Given the description of an element on the screen output the (x, y) to click on. 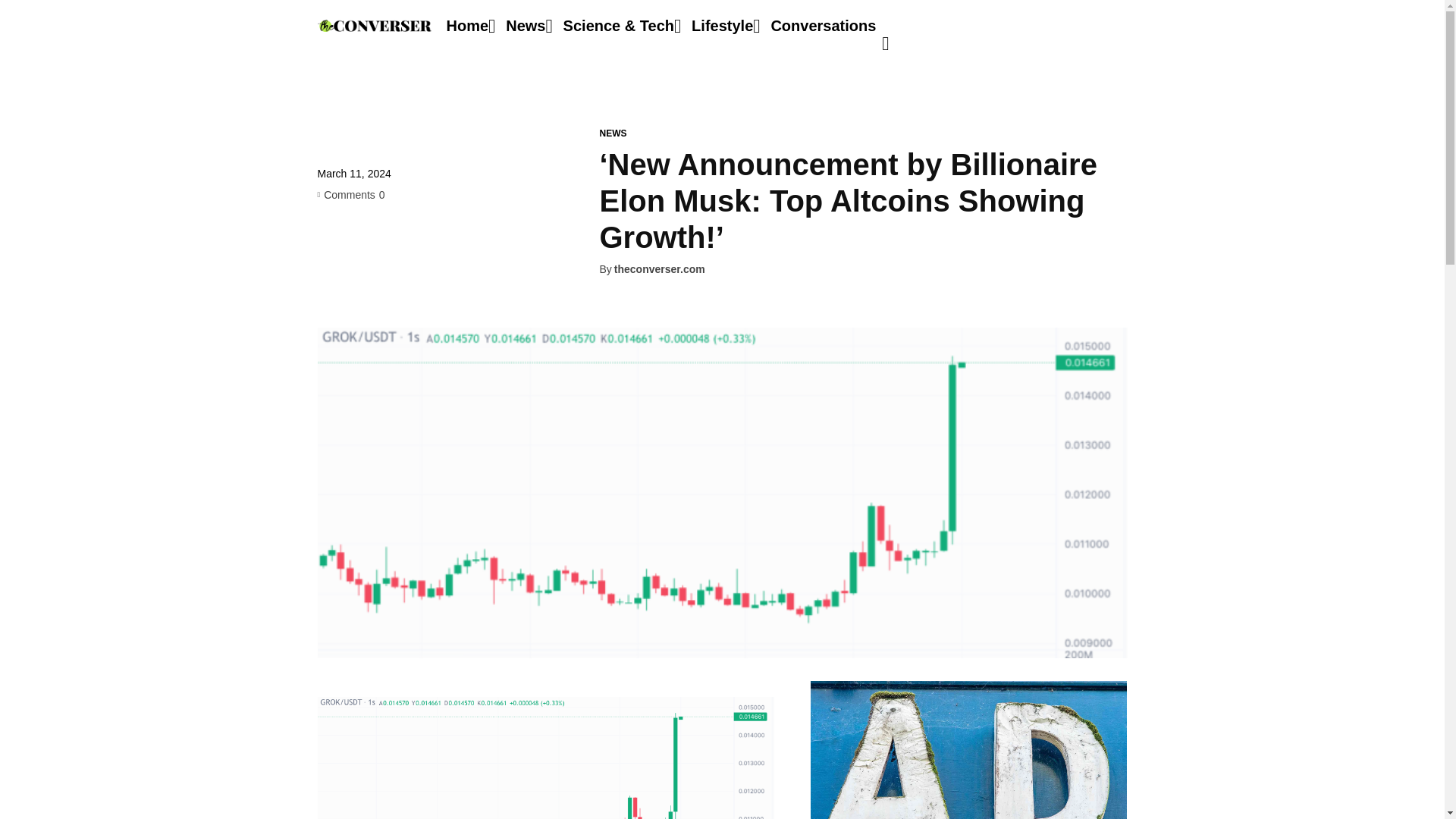
theconverser.com (659, 269)
Home (466, 25)
Lifestyle (721, 25)
WhatsApp (436, 252)
News (524, 25)
Twitter (366, 252)
Facebook (332, 252)
Pinterest (401, 252)
NEWS (612, 132)
Comments0 (350, 193)
Conversations (823, 25)
